Given the description of an element on the screen output the (x, y) to click on. 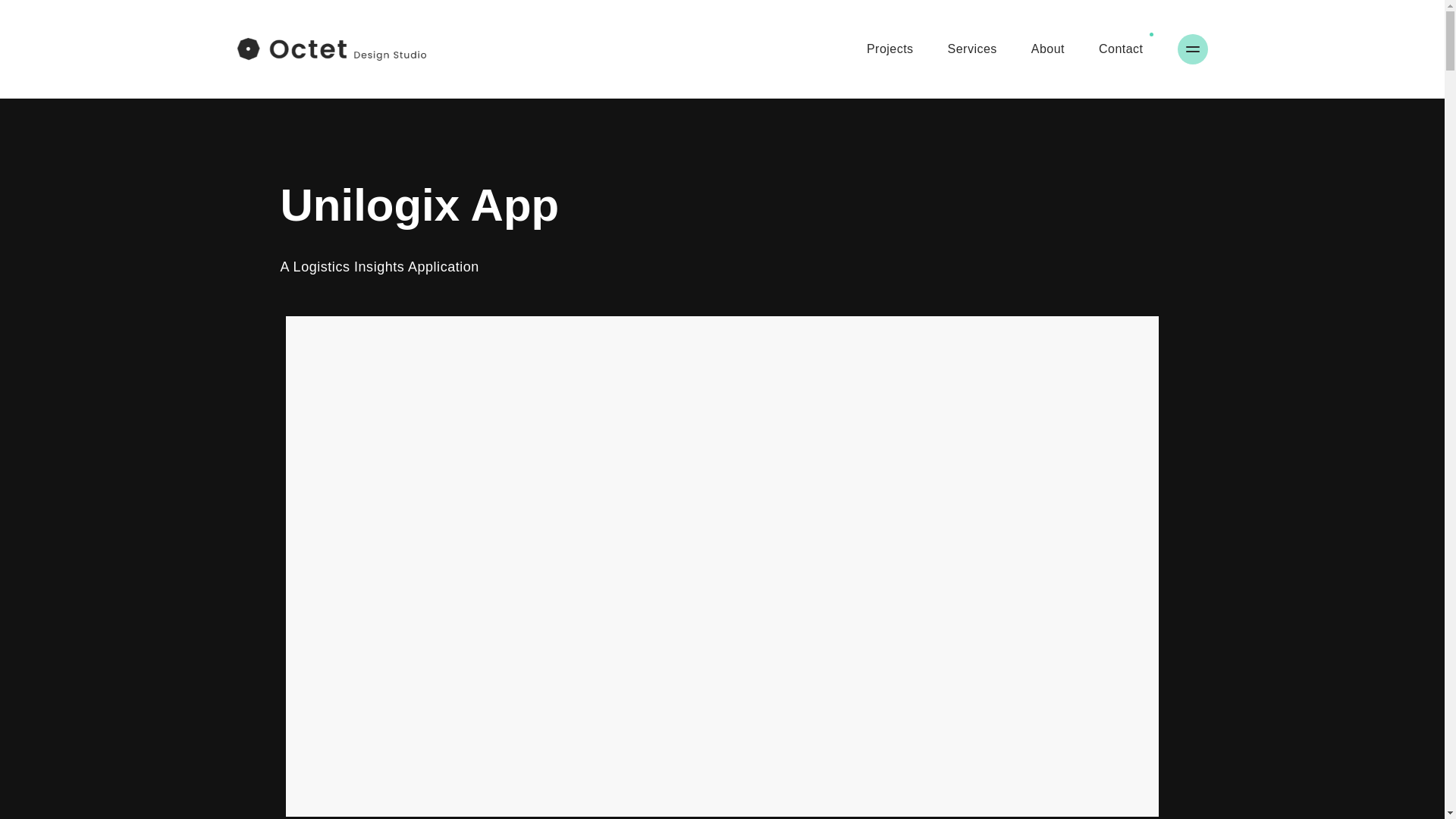
Contact (1120, 48)
Projects (890, 48)
About (1047, 48)
Octet Design Studio (330, 48)
Services (972, 48)
